Given the description of an element on the screen output the (x, y) to click on. 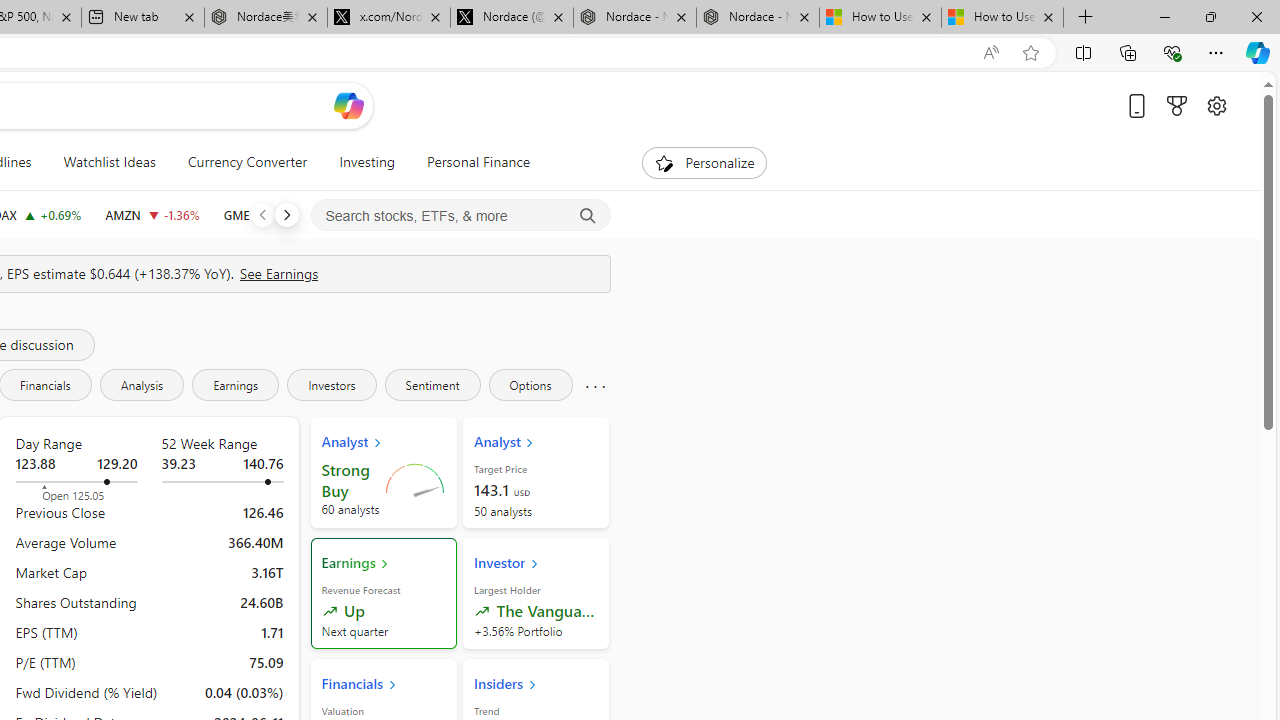
Investing (367, 162)
x.com/NordaceOfficial (388, 17)
Search stocks, ETFs, & more (461, 215)
Personal Finance (478, 162)
Nordace (@NordaceOfficial) / X (511, 17)
AMZN AMAZON.COM, INC. decrease 173.12 -2.38 -1.36% (152, 214)
Personal Finance (469, 162)
Earnings (236, 384)
Watchlist Ideas (109, 162)
